Given the description of an element on the screen output the (x, y) to click on. 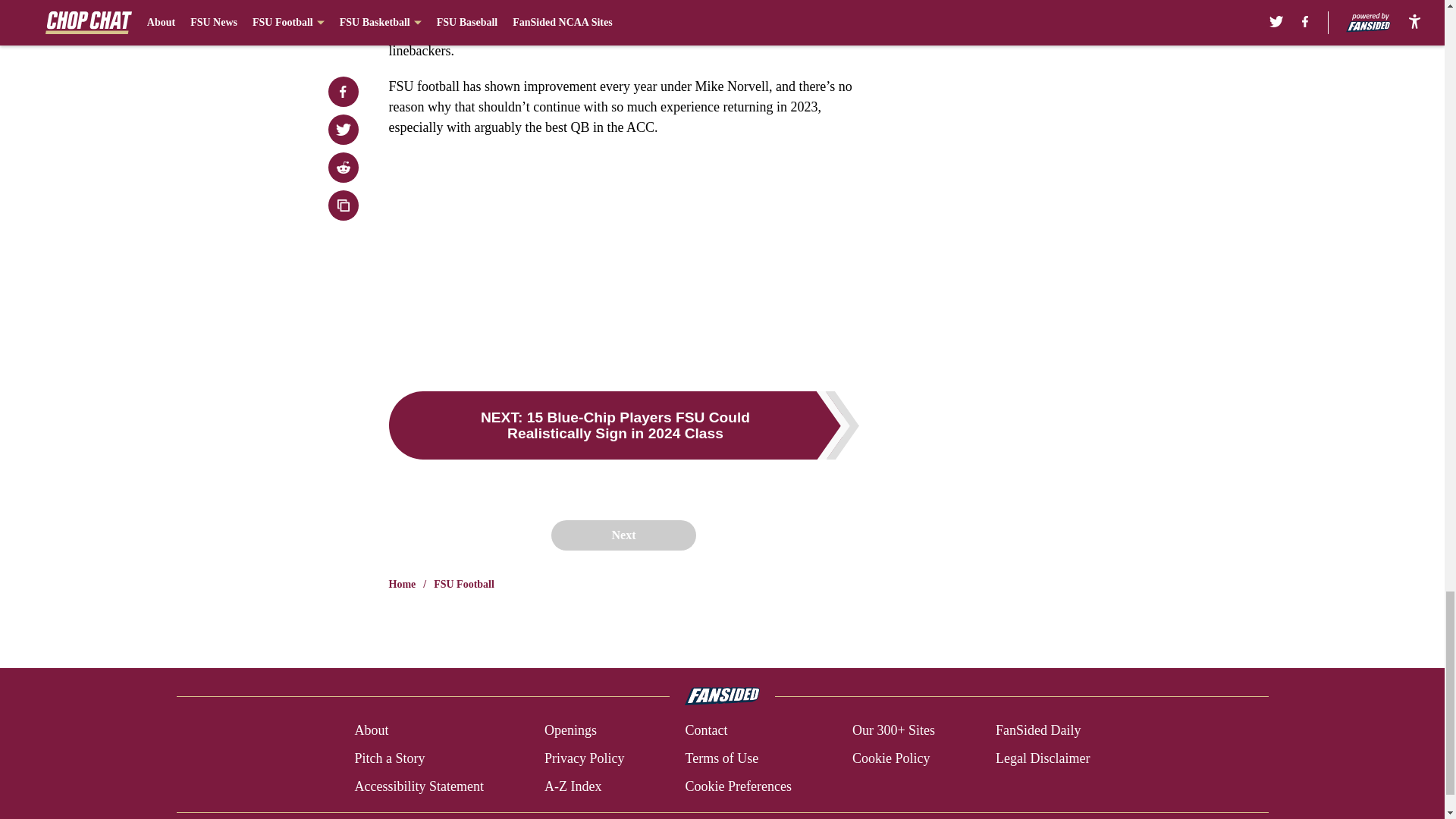
Privacy Policy (584, 758)
FSU Football (464, 584)
Next (622, 535)
Pitch a Story (389, 758)
FanSided Daily (1038, 730)
Contact (705, 730)
Home (401, 584)
Openings (570, 730)
About (370, 730)
